Given the description of an element on the screen output the (x, y) to click on. 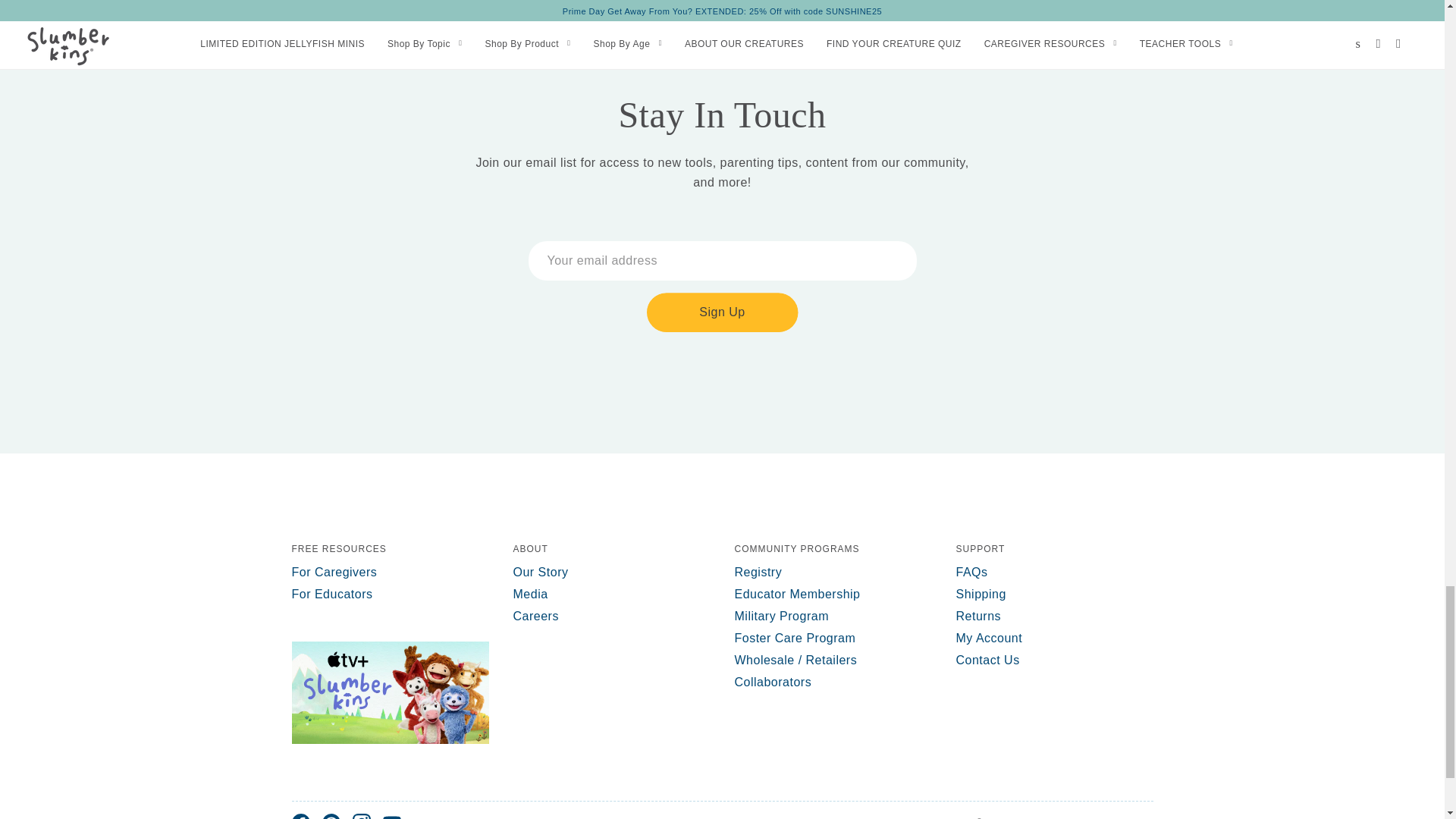
Slumberkins on Instagram (360, 816)
Slumberkins on Pinterest (330, 816)
Slumberkins on Facebook (299, 816)
Pinterest Page (330, 816)
Slumberkins on YouTube (390, 816)
YouTube Page (390, 816)
Instagram Page (360, 816)
Facebook Page (299, 816)
